Given the description of an element on the screen output the (x, y) to click on. 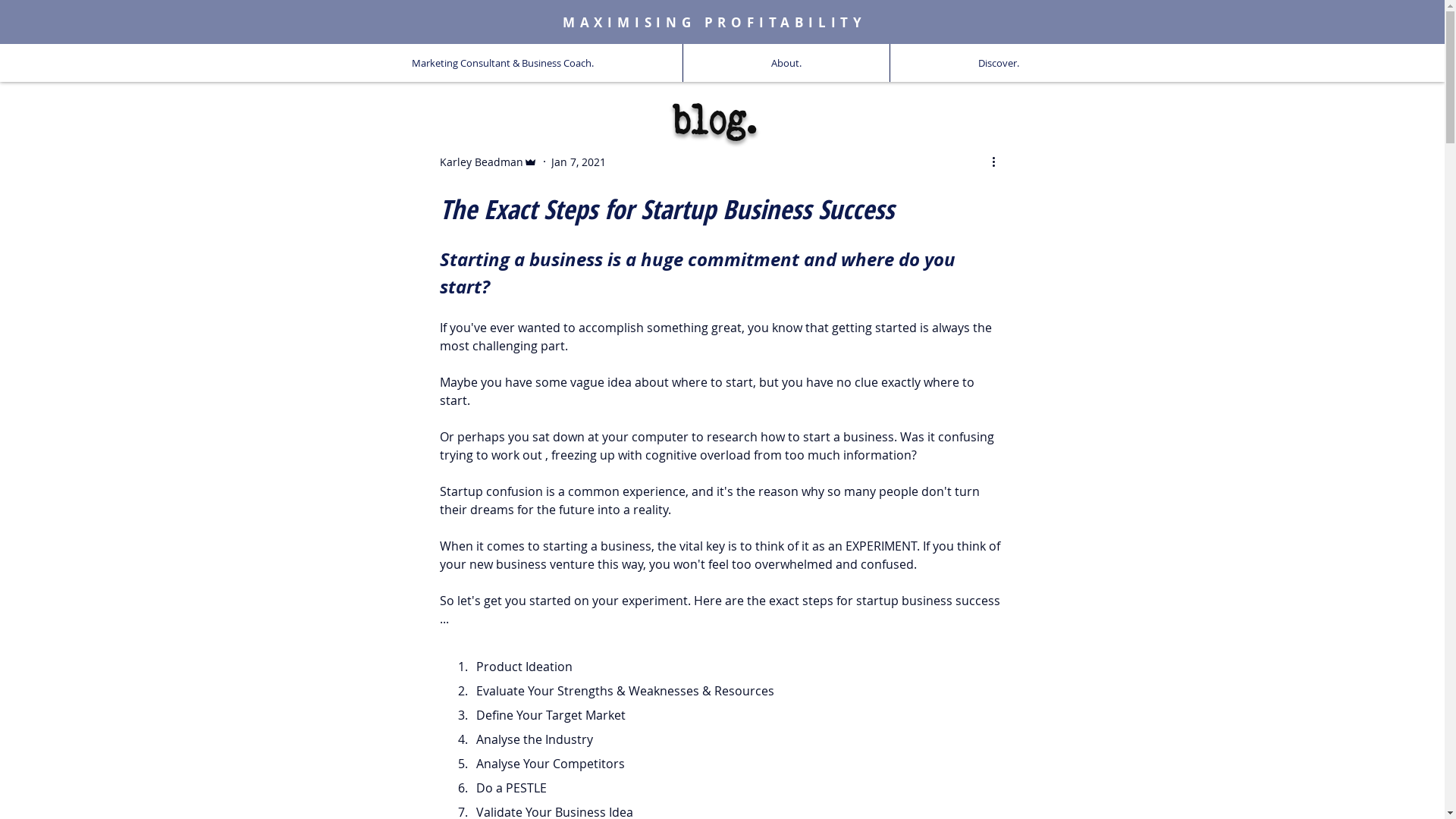
Karley Beadman Element type: text (488, 161)
Marketing Consultant & Business Coach. Element type: text (502, 62)
About. Element type: text (785, 62)
